Given the description of an element on the screen output the (x, y) to click on. 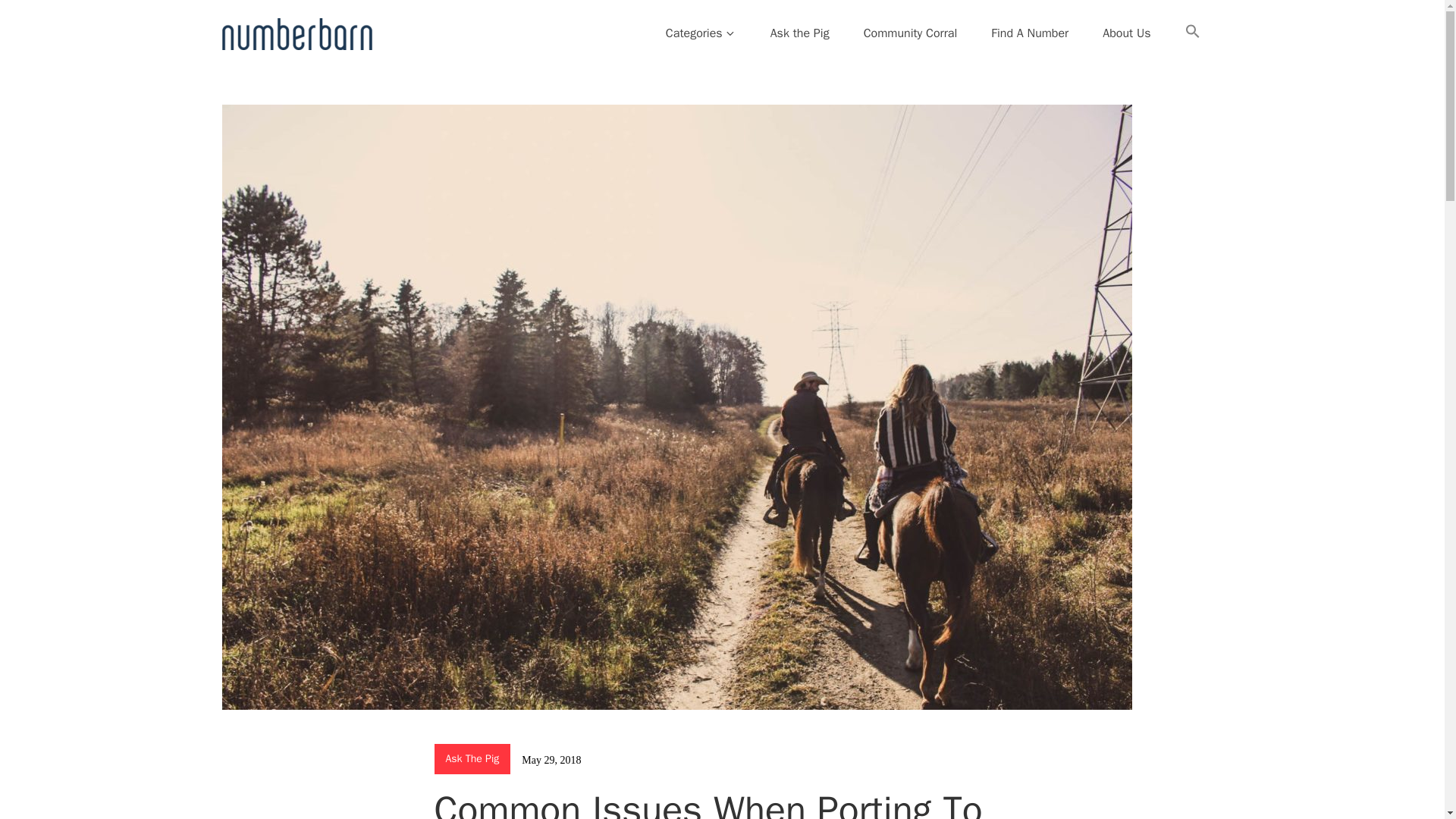
Ask The Pig (472, 758)
Categories (700, 33)
Ask the Pig (799, 33)
May 29, 2018 (550, 759)
NumberBarn Blog (313, 65)
Community Corral (910, 33)
About Us (1125, 33)
Find A Number (1029, 33)
